Given the description of an element on the screen output the (x, y) to click on. 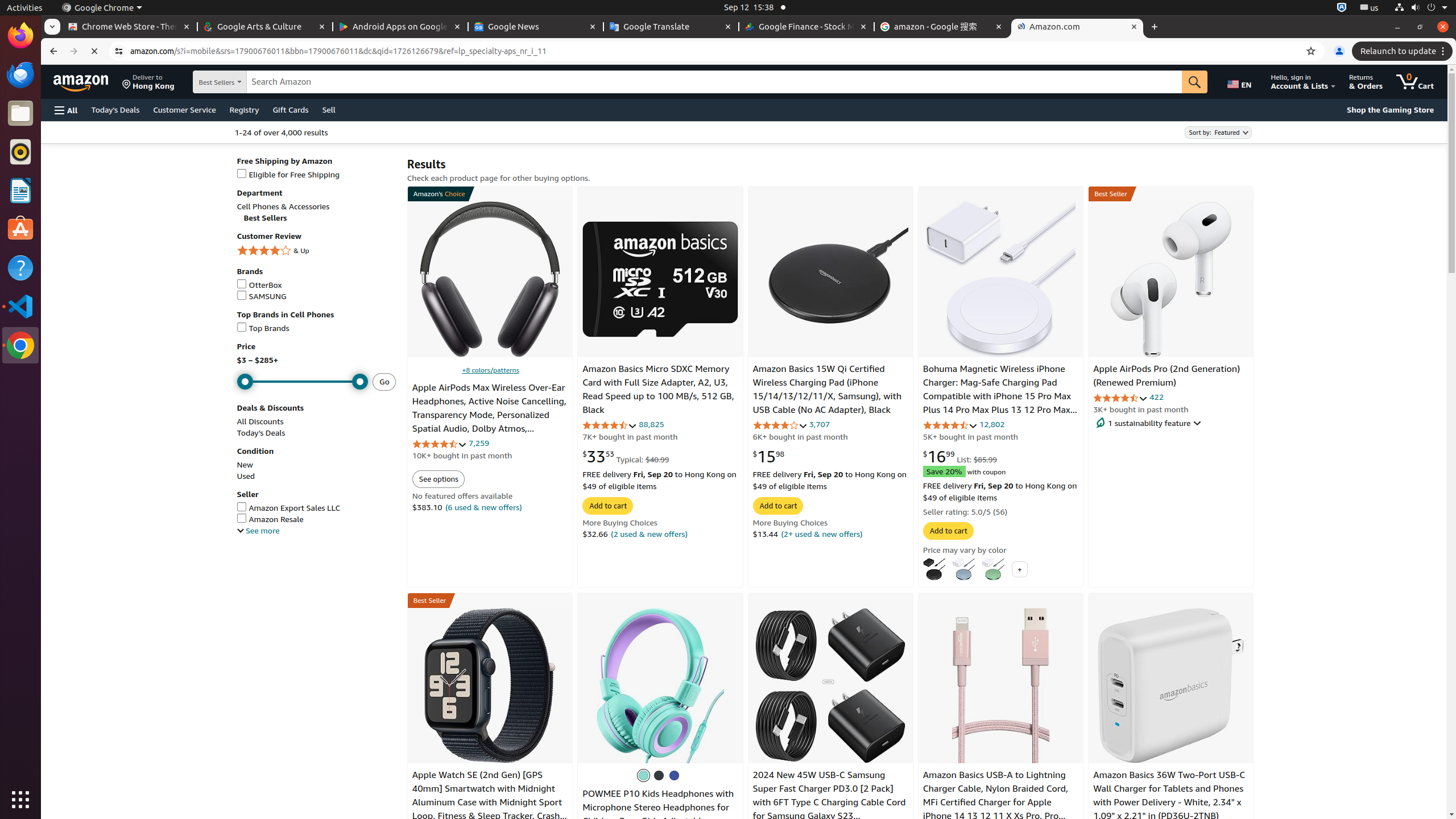
(2+ used & new offers) Element type: link (821, 533)
Amazon.com Element type: page-tab (1077, 26)
Gift Cards Element type: link (290, 109)
Open Menu Element type: push-button (66, 109)
Files Element type: push-button (20, 113)
